Given the description of an element on the screen output the (x, y) to click on. 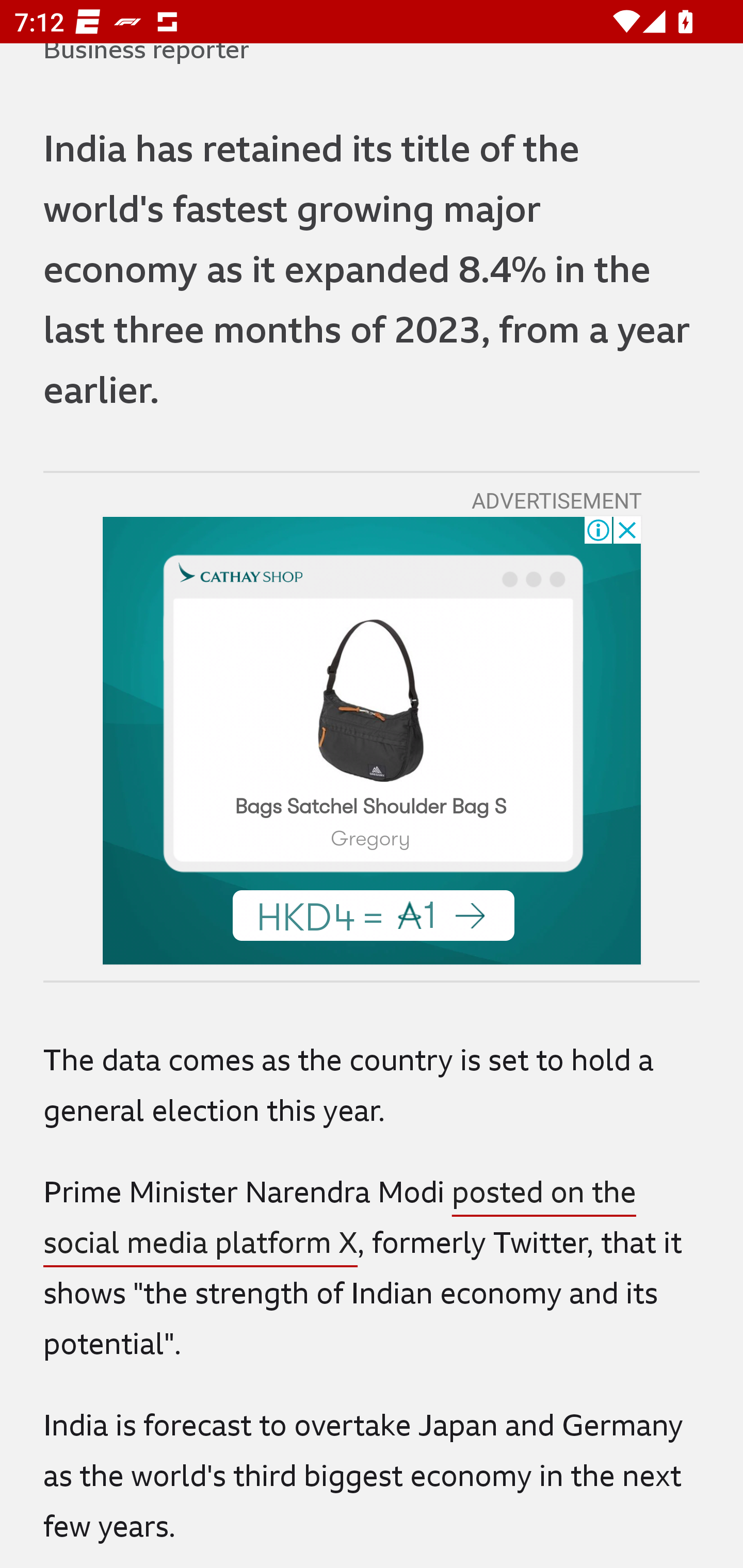
23 (370, 699)
